Given the description of an element on the screen output the (x, y) to click on. 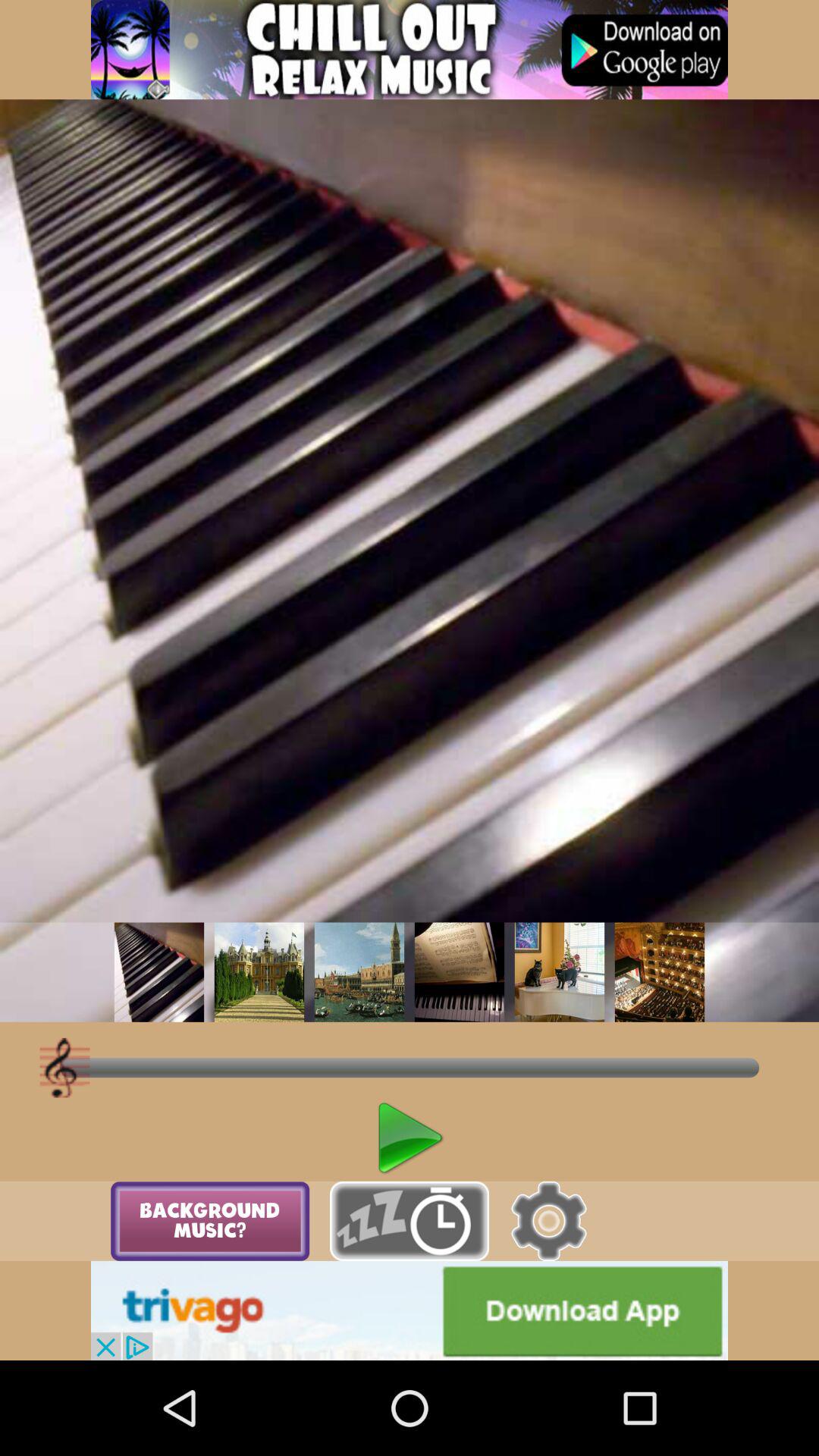
update settings (548, 1220)
